Given the description of an element on the screen output the (x, y) to click on. 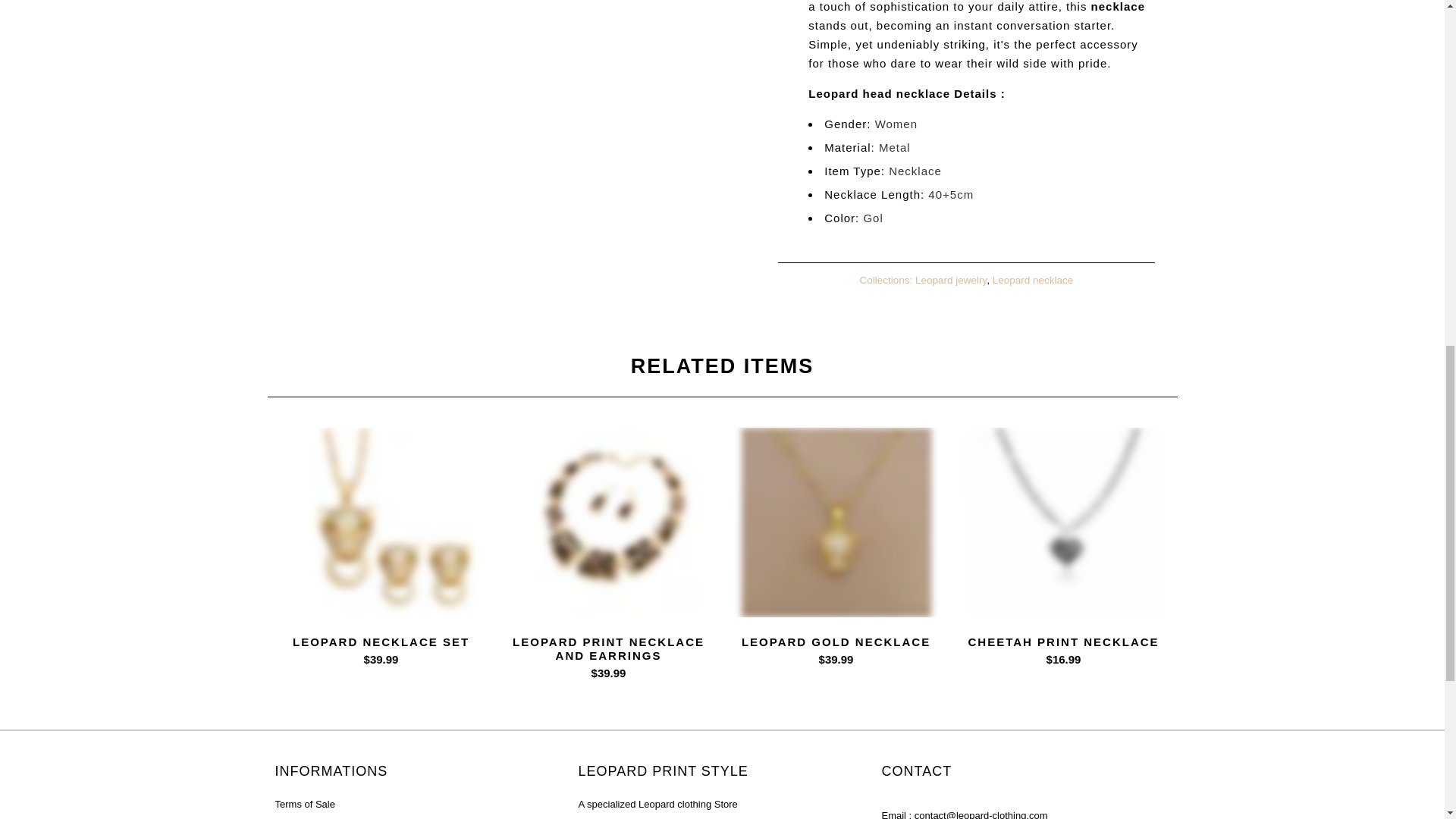
Leopard necklace (1033, 279)
Leopard jewelry (951, 279)
